Given the description of an element on the screen output the (x, y) to click on. 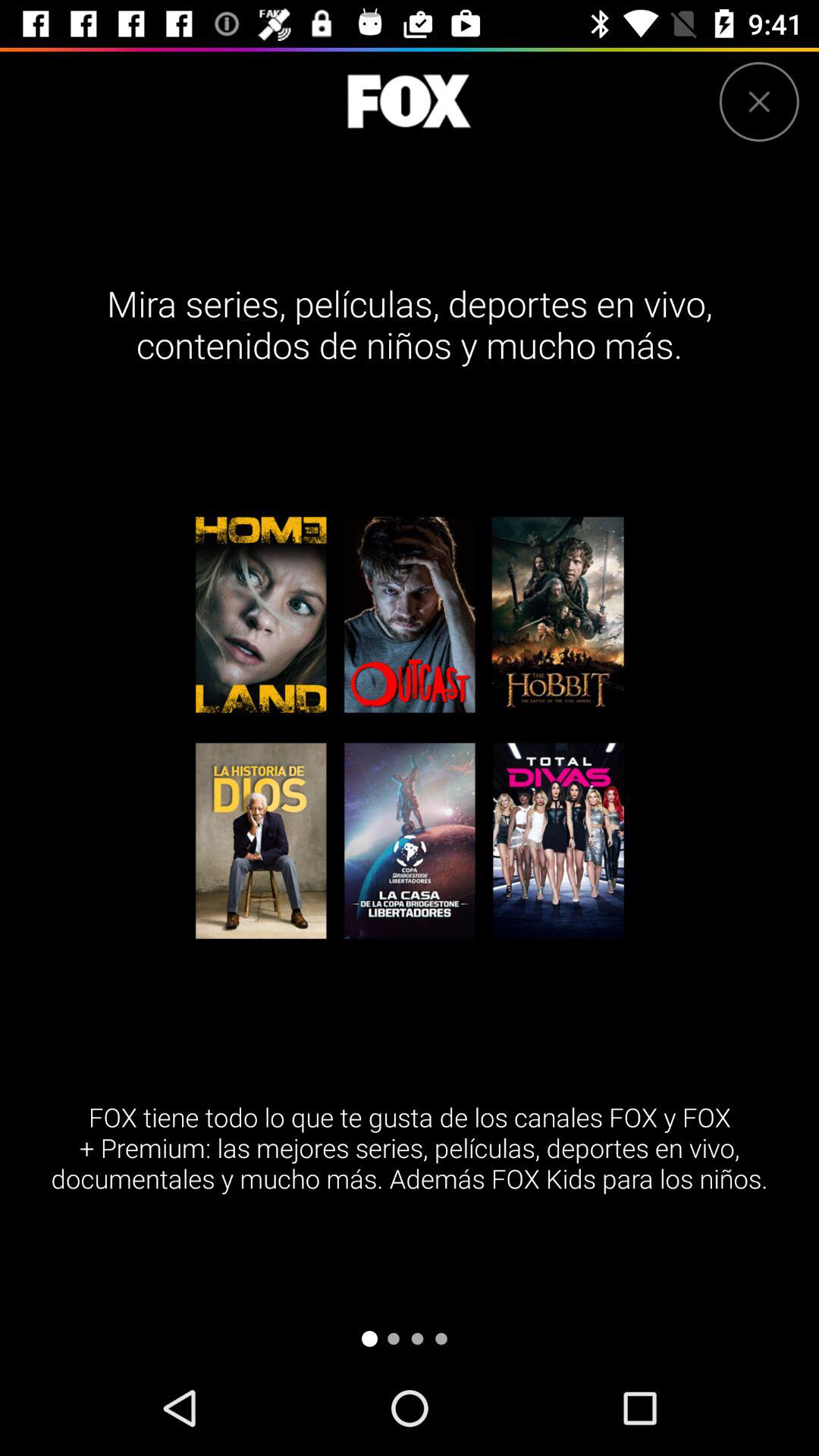
it is a fox picture advertisement (408, 101)
